Given the description of an element on the screen output the (x, y) to click on. 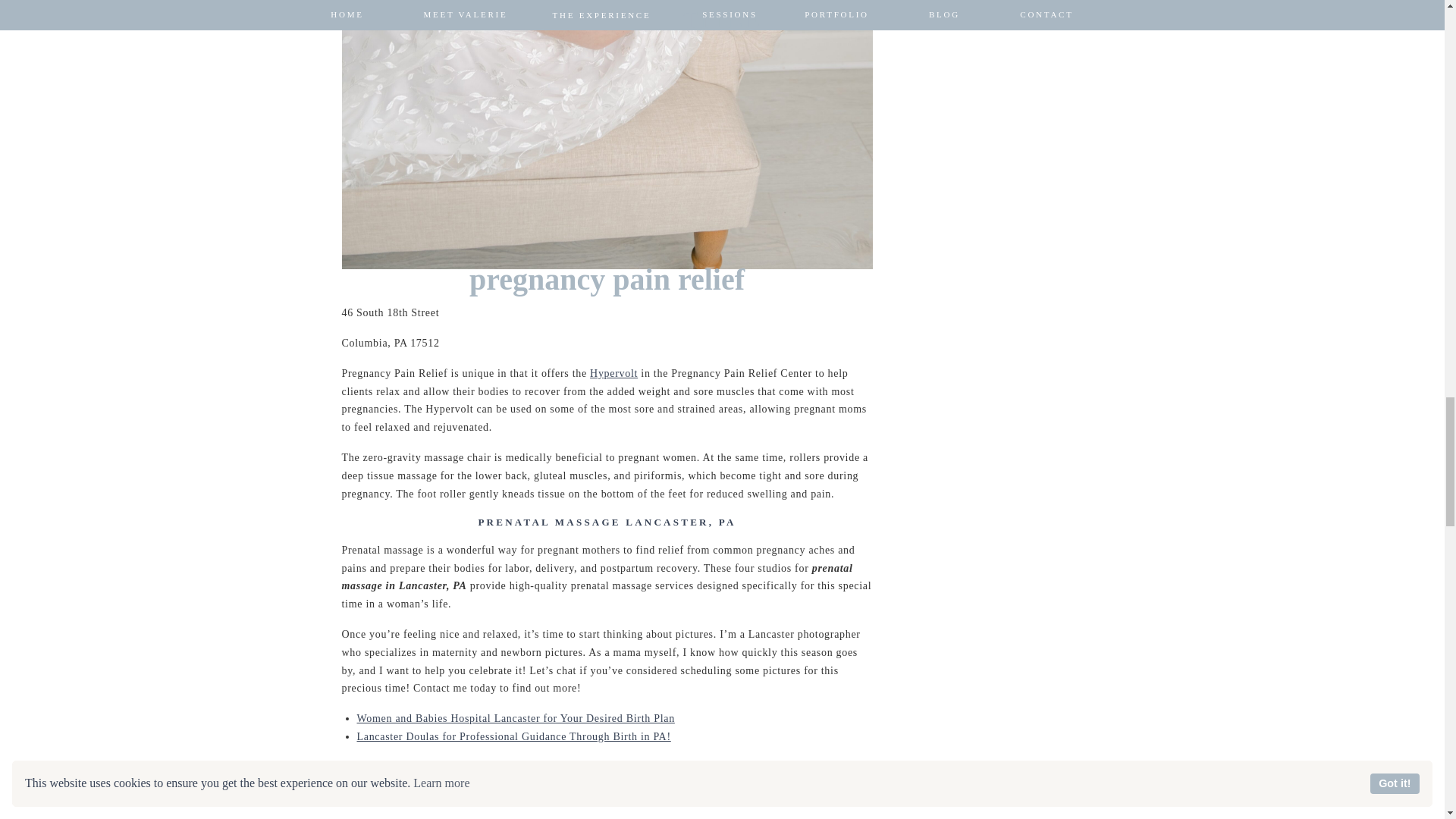
Hypervolt (613, 373)
